Given the description of an element on the screen output the (x, y) to click on. 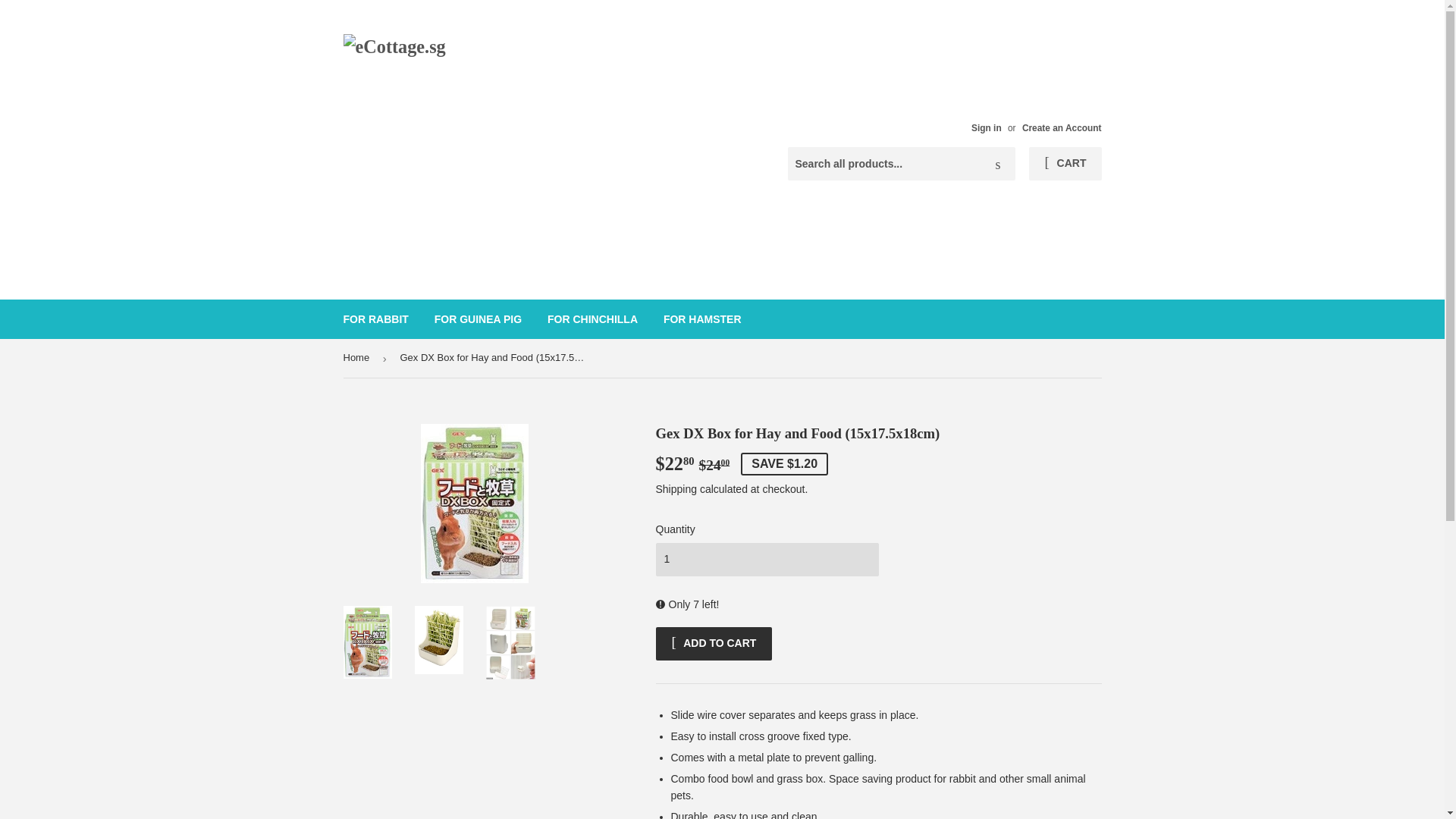
Create an Account (1062, 127)
FOR CHINCHILLA (592, 319)
Search (997, 164)
CART (1064, 163)
Sign in (986, 127)
Shipping (676, 489)
1 (766, 559)
FOR RABBIT (375, 319)
ADD TO CART (713, 643)
FOR GUINEA PIG (477, 319)
